Given the description of an element on the screen output the (x, y) to click on. 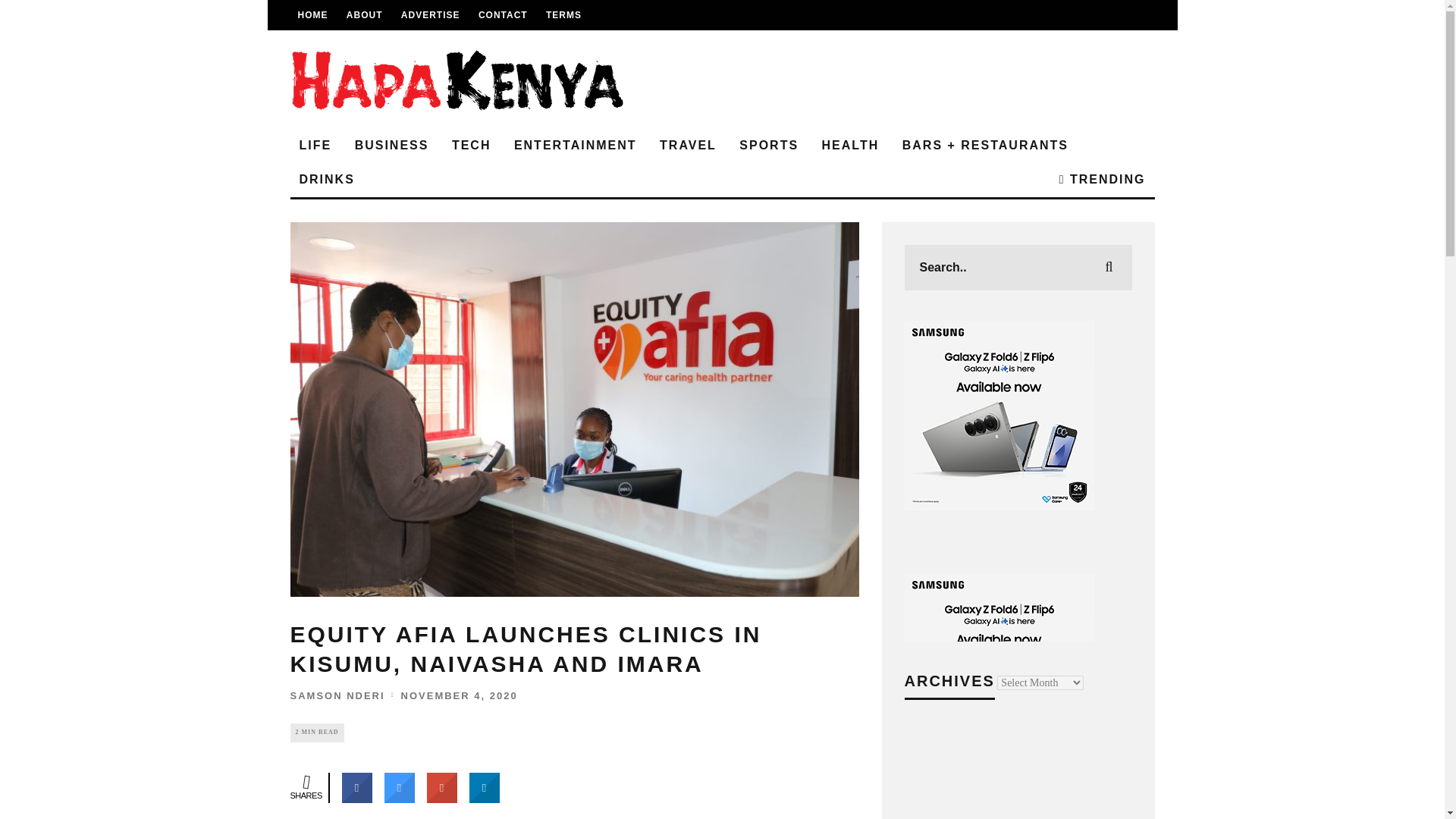
ADVERTISE (430, 15)
ABOUT (364, 15)
LIFE (314, 145)
CONTACT (503, 15)
Log In (721, 445)
TERMS (563, 15)
BUSINESS (392, 145)
HOME (312, 15)
